Given the description of an element on the screen output the (x, y) to click on. 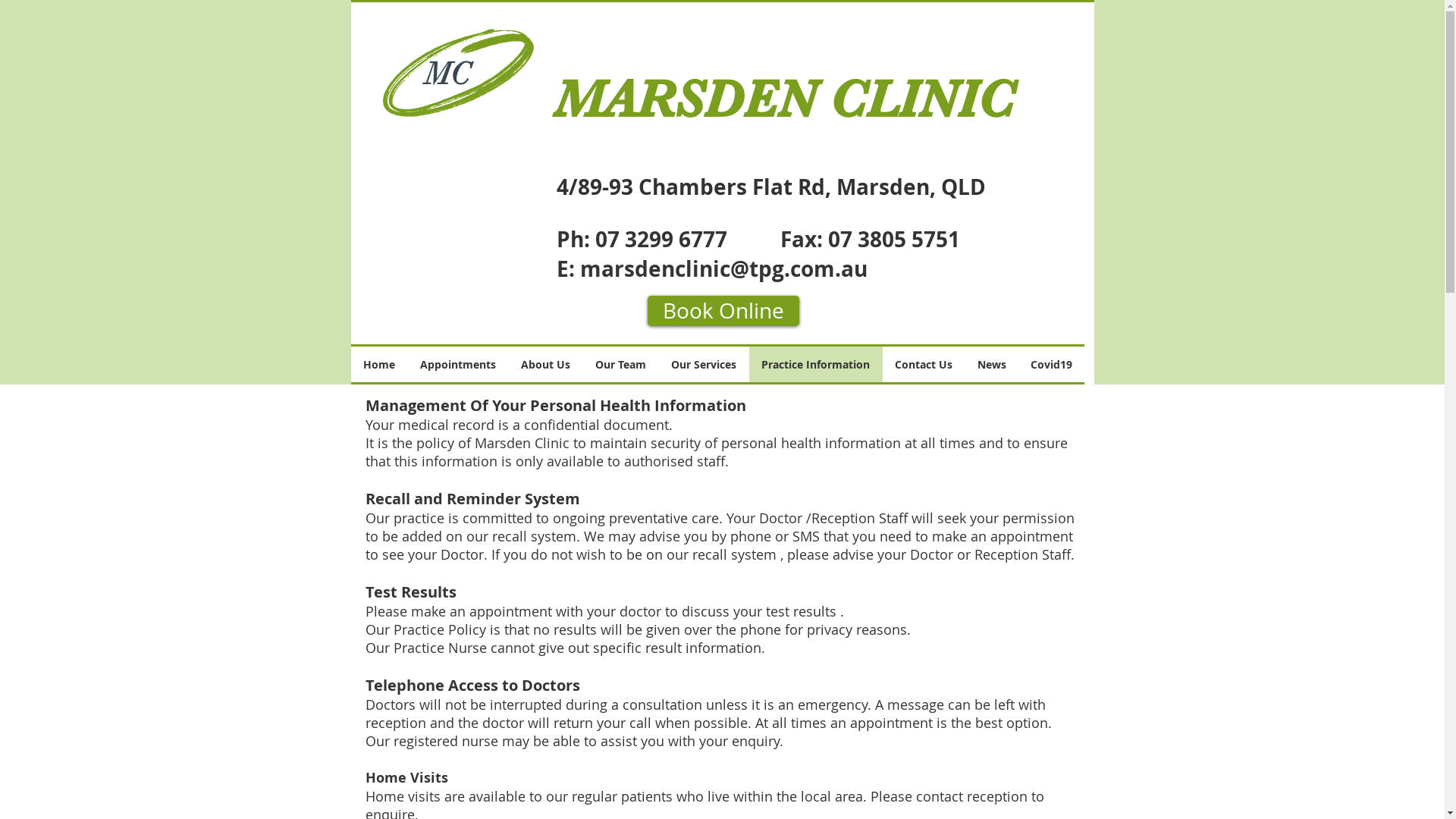
Contact Us Element type: text (923, 364)
About Us Element type: text (545, 364)
Practice Information Element type: text (815, 364)
Our Team Element type: text (620, 364)
Our Services Element type: text (703, 364)
News Element type: text (990, 364)
Appointments Element type: text (457, 364)
Book Online Element type: text (723, 310)
Covid19 Element type: text (1050, 364)
marsdenclinic@tpg.com.au Element type: text (722, 268)
Home Element type: text (378, 364)
